Given the description of an element on the screen output the (x, y) to click on. 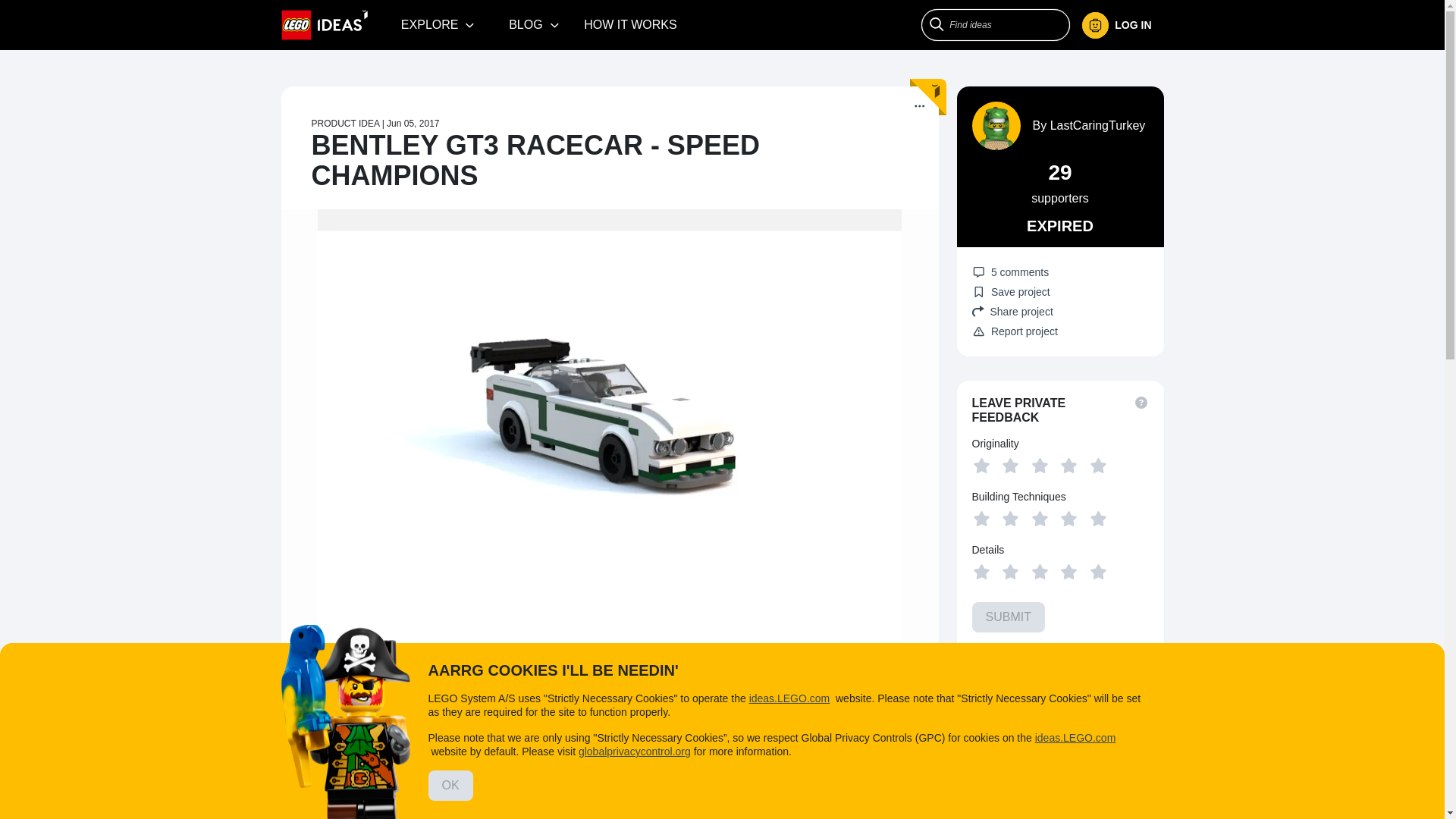
DESCRIPTION (331, 763)
HOW IT WORKS (630, 24)
OFFICIAL LEGO COMMENTS 1 (657, 762)
Share project (1060, 311)
COMMENTS 5 (515, 762)
EXPLORE (437, 24)
2017-06-05T09:03:54.752985Z (413, 122)
LastCaringTurkey (1097, 124)
